Given the description of an element on the screen output the (x, y) to click on. 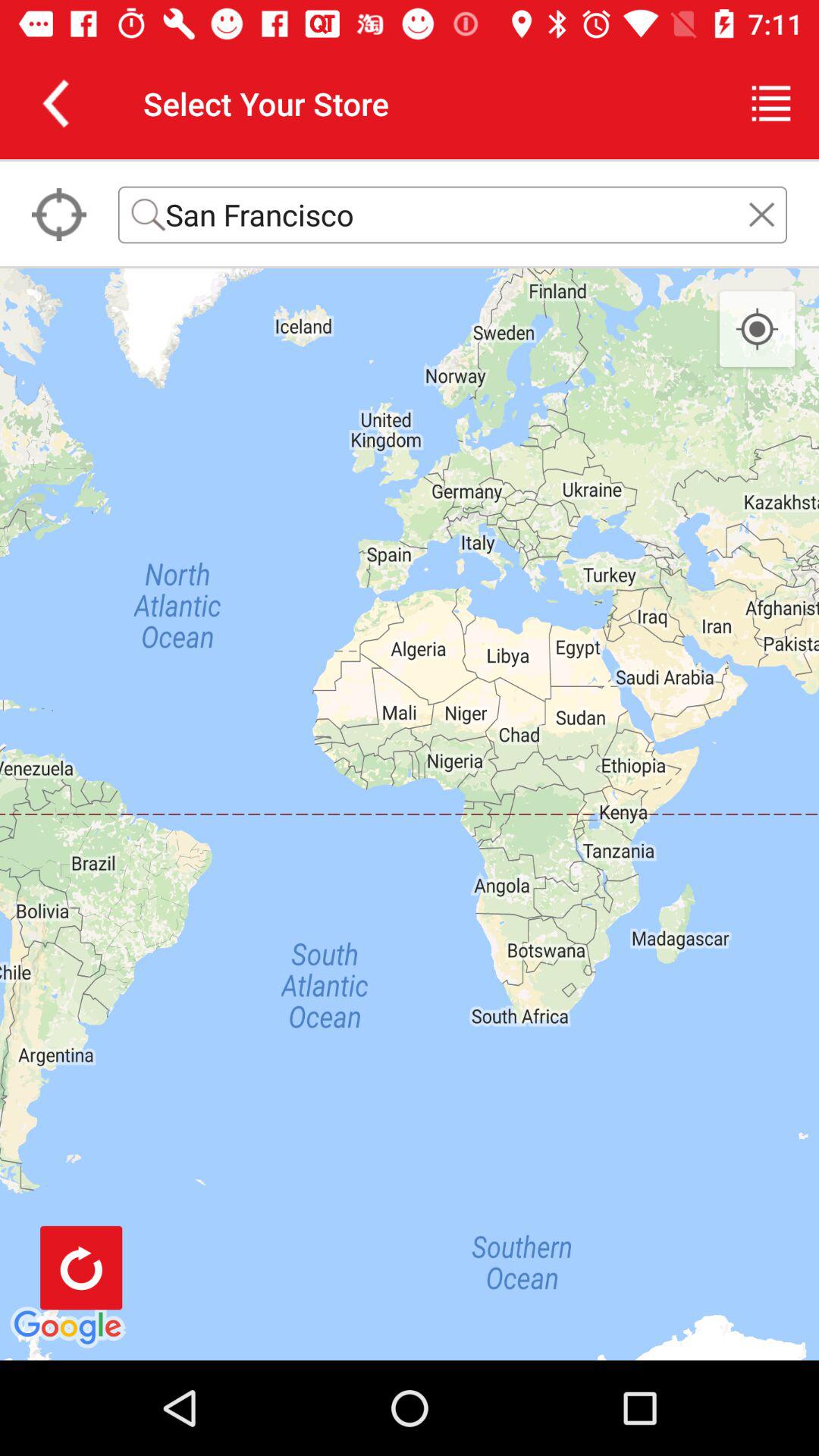
choose icon to the right of the select your store item (771, 103)
